Given the description of an element on the screen output the (x, y) to click on. 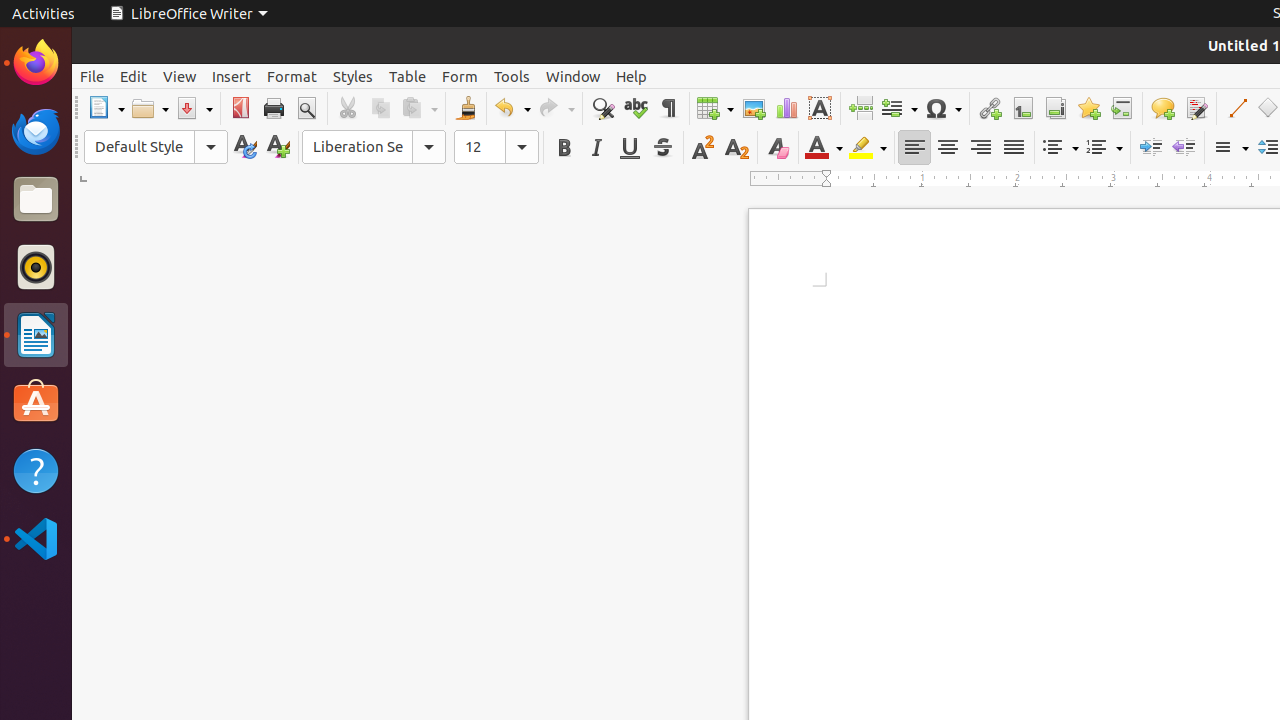
Save Element type: push-button (194, 108)
PDF Element type: push-button (240, 108)
Line Element type: toggle-button (1236, 108)
LibreOffice Writer Element type: push-button (36, 334)
LibreOffice Writer Element type: menu (188, 13)
